Given the description of an element on the screen output the (x, y) to click on. 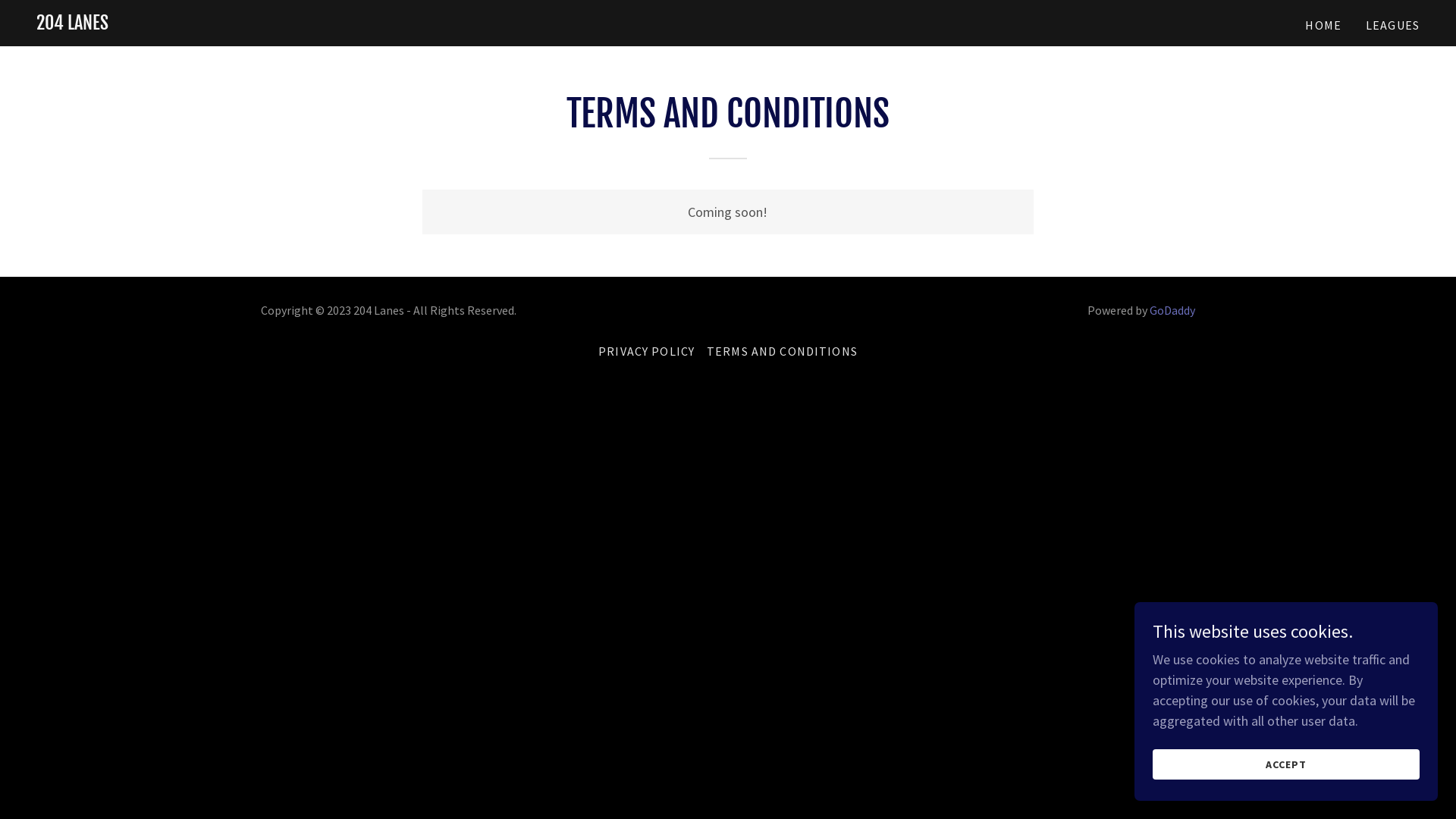
ACCEPT Element type: text (1285, 764)
PRIVACY POLICY Element type: text (646, 350)
204 LANES Element type: text (72, 24)
HOME Element type: text (1323, 24)
GoDaddy Element type: text (1172, 309)
LEAGUES Element type: text (1392, 24)
TERMS AND CONDITIONS Element type: text (781, 350)
